Given the description of an element on the screen output the (x, y) to click on. 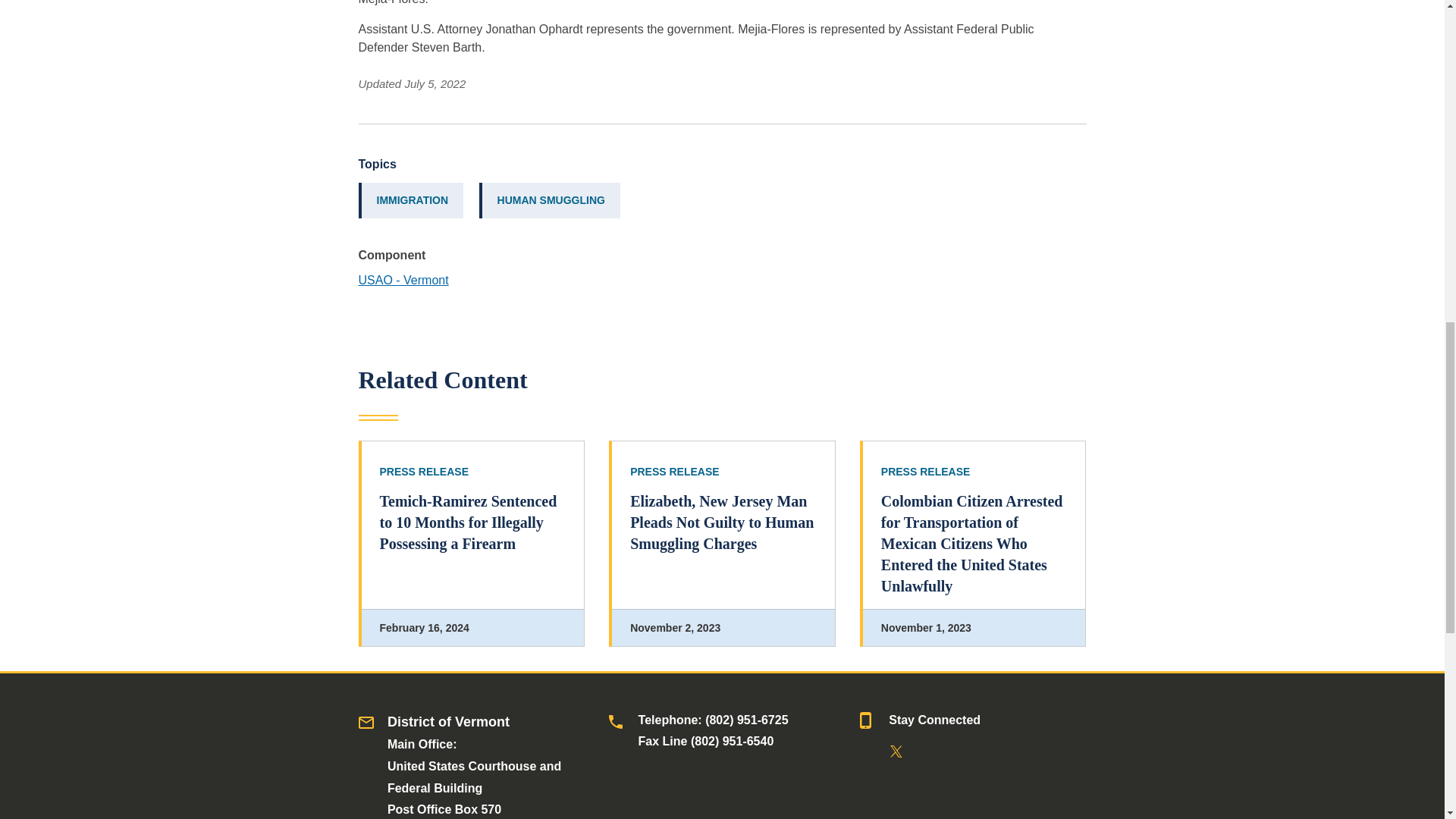
USAO - Vermont (403, 279)
